Given the description of an element on the screen output the (x, y) to click on. 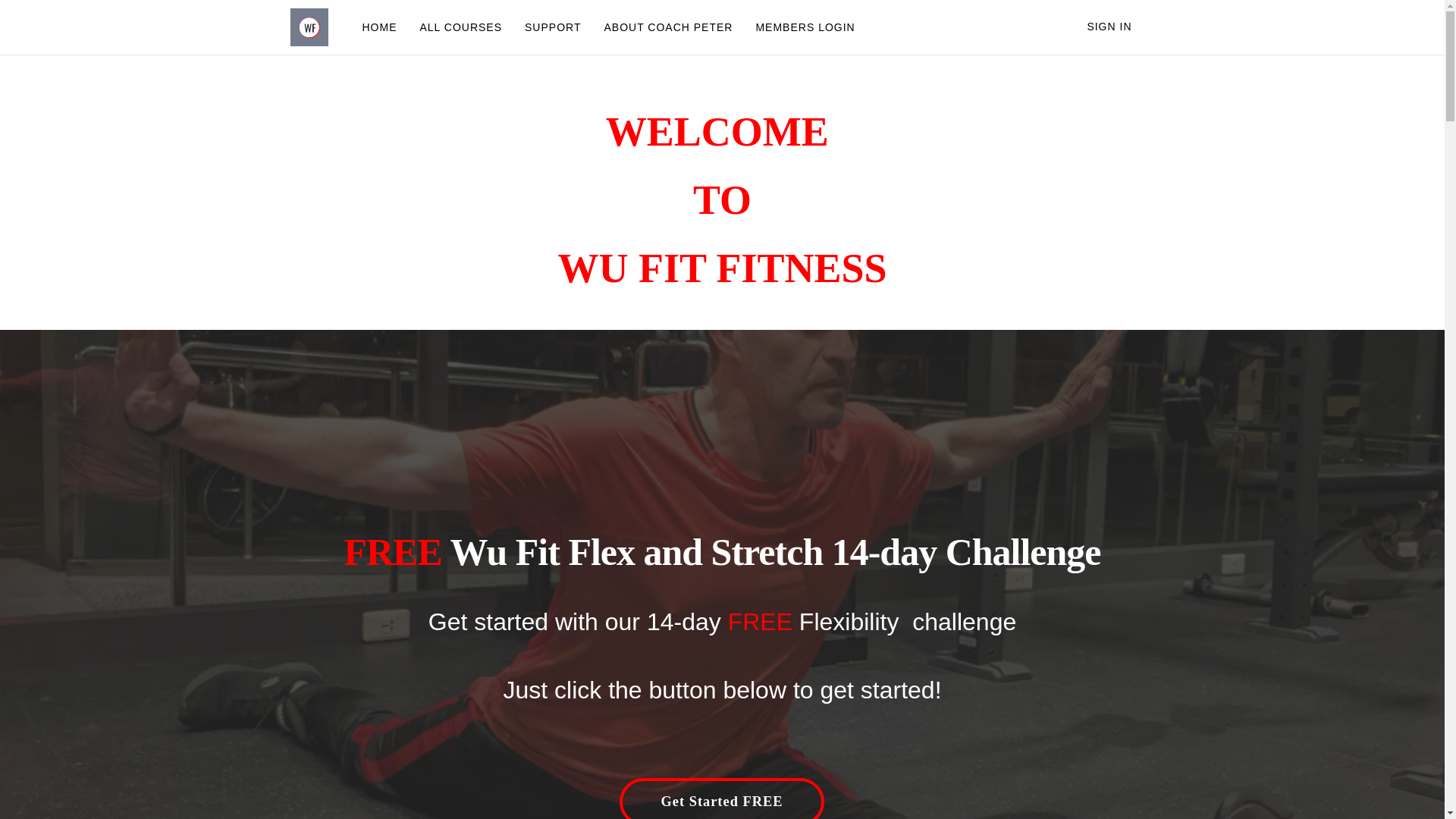
MEMBERS LOGIN (805, 27)
Get Started FREE (722, 798)
SIGN IN (1108, 26)
ALL COURSES (460, 27)
SUPPORT (552, 27)
ABOUT COACH PETER (668, 27)
HOME (378, 27)
